Given the description of an element on the screen output the (x, y) to click on. 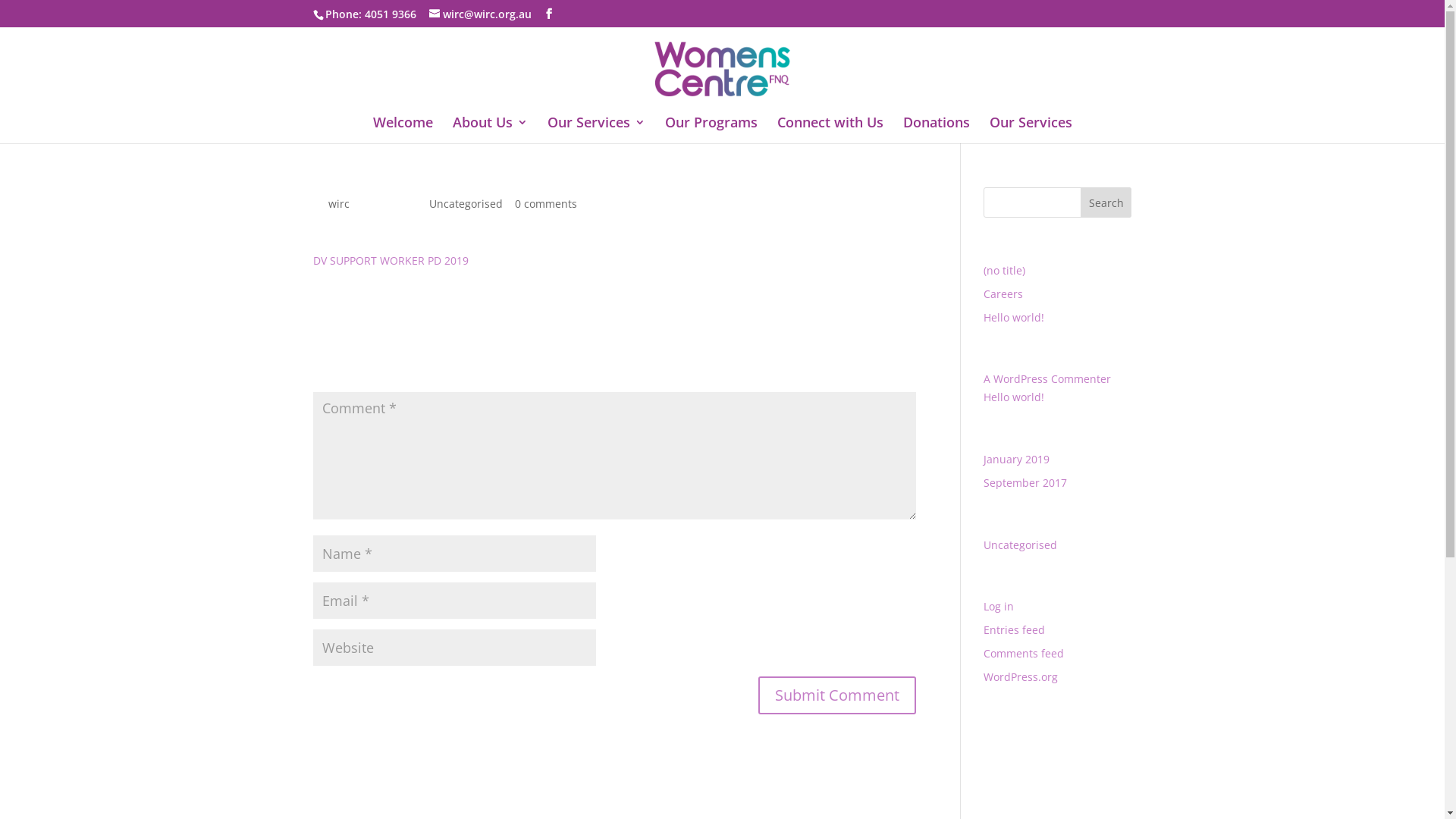
Search Element type: text (1106, 202)
Donations Element type: text (935, 129)
Connect with Us Element type: text (829, 129)
A WordPress Commenter Element type: text (1046, 378)
0 comments Element type: text (545, 203)
Welcome Element type: text (403, 129)
About Us Element type: text (489, 129)
wirc@wirc.org.au Element type: text (480, 13)
Our Programs Element type: text (710, 129)
Uncategorised Element type: text (465, 203)
Hello world! Element type: text (1013, 396)
wirc Element type: text (337, 203)
Careers Element type: text (1002, 293)
WordPress.org Element type: text (1020, 676)
Submit Comment Element type: text (837, 695)
DV SUPPORT WORKER PD 2019 Element type: text (389, 260)
(no title) Element type: text (1004, 270)
September 2017 Element type: text (1024, 482)
Uncategorised Element type: text (1020, 544)
Our Services Element type: text (1029, 129)
Comments feed Element type: text (1023, 653)
January 2019 Element type: text (1016, 458)
Hello world! Element type: text (1013, 317)
Entries feed Element type: text (1013, 629)
Our Services Element type: text (596, 129)
Log in Element type: text (998, 606)
